Given the description of an element on the screen output the (x, y) to click on. 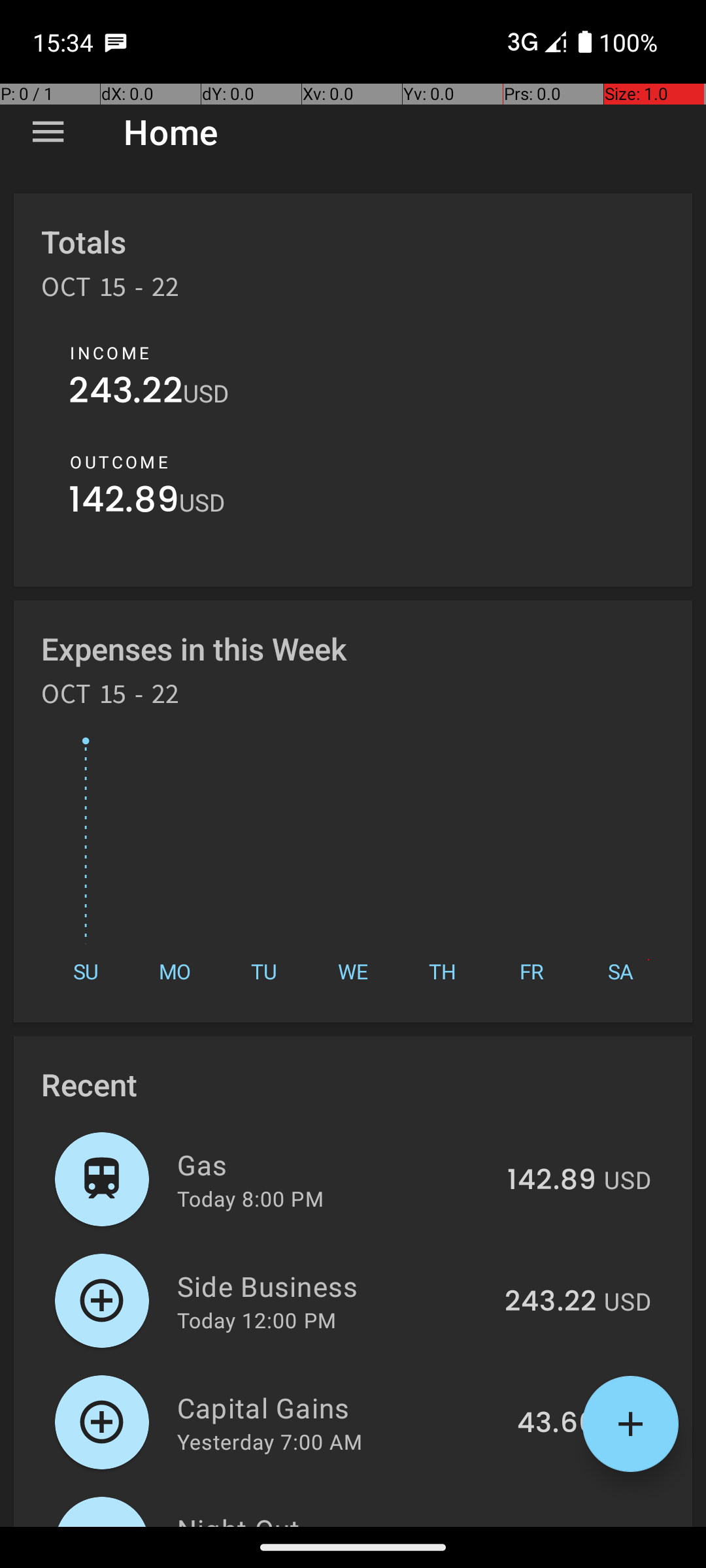
243.22 Element type: android.widget.TextView (125, 393)
142.89 Element type: android.widget.TextView (123, 502)
Gas Element type: android.widget.TextView (334, 1164)
Today 8:00 PM Element type: android.widget.TextView (250, 1198)
Side Business Element type: android.widget.TextView (333, 1285)
Today 12:00 PM Element type: android.widget.TextView (256, 1320)
Capital Gains Element type: android.widget.TextView (339, 1407)
Yesterday 7:00 AM Element type: android.widget.TextView (269, 1441)
43.66 Element type: android.widget.TextView (556, 1423)
Night Out Element type: android.widget.TextView (334, 1518)
149.87 Element type: android.widget.TextView (551, 1524)
SMS Messenger notification: +12845986552 Element type: android.widget.ImageView (115, 41)
